Given the description of an element on the screen output the (x, y) to click on. 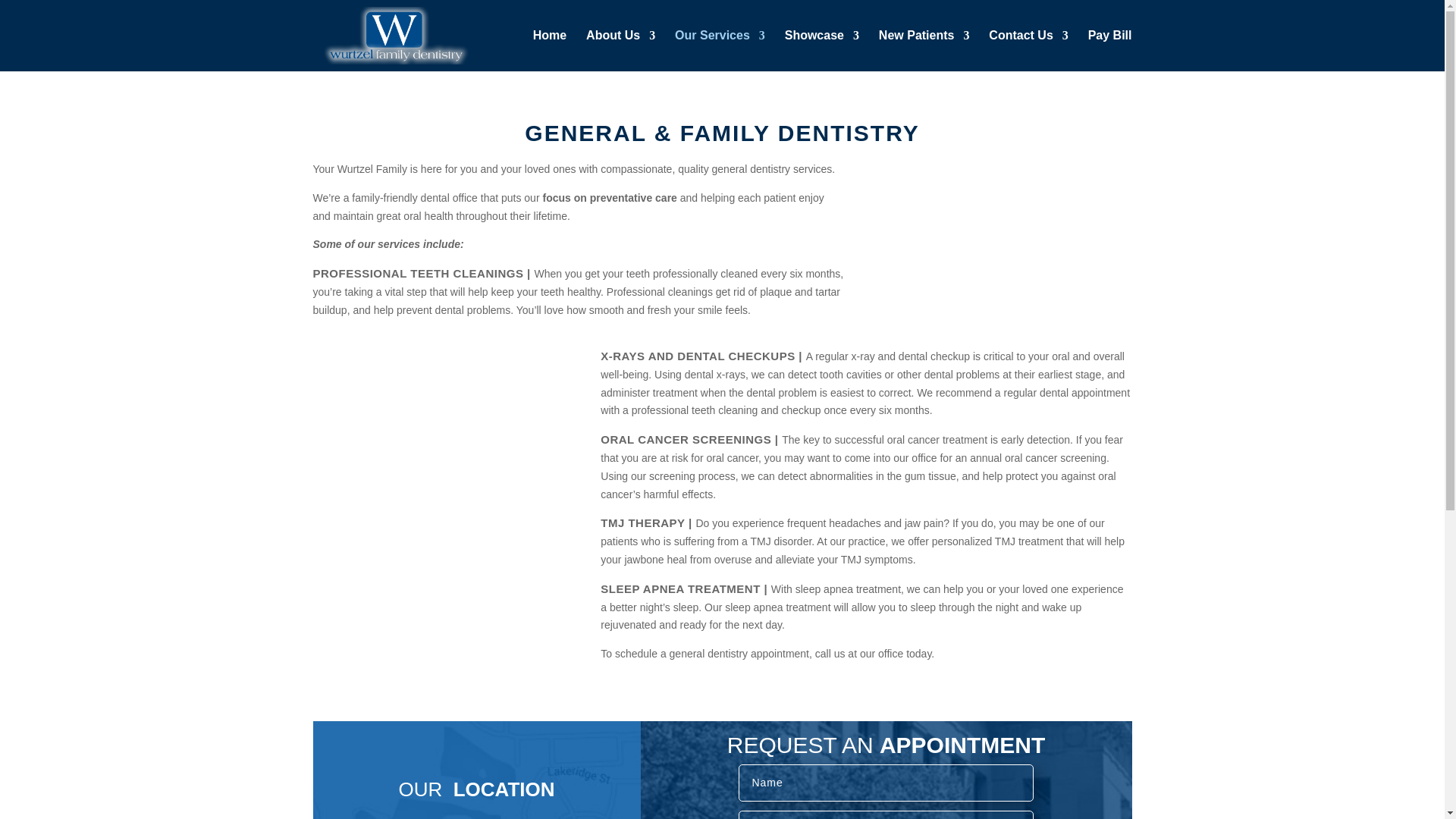
Pay Bill (1109, 50)
Our Services (720, 50)
New Patients (924, 50)
About Us (620, 50)
Showcase (821, 50)
Contact Us (1027, 50)
